Given the description of an element on the screen output the (x, y) to click on. 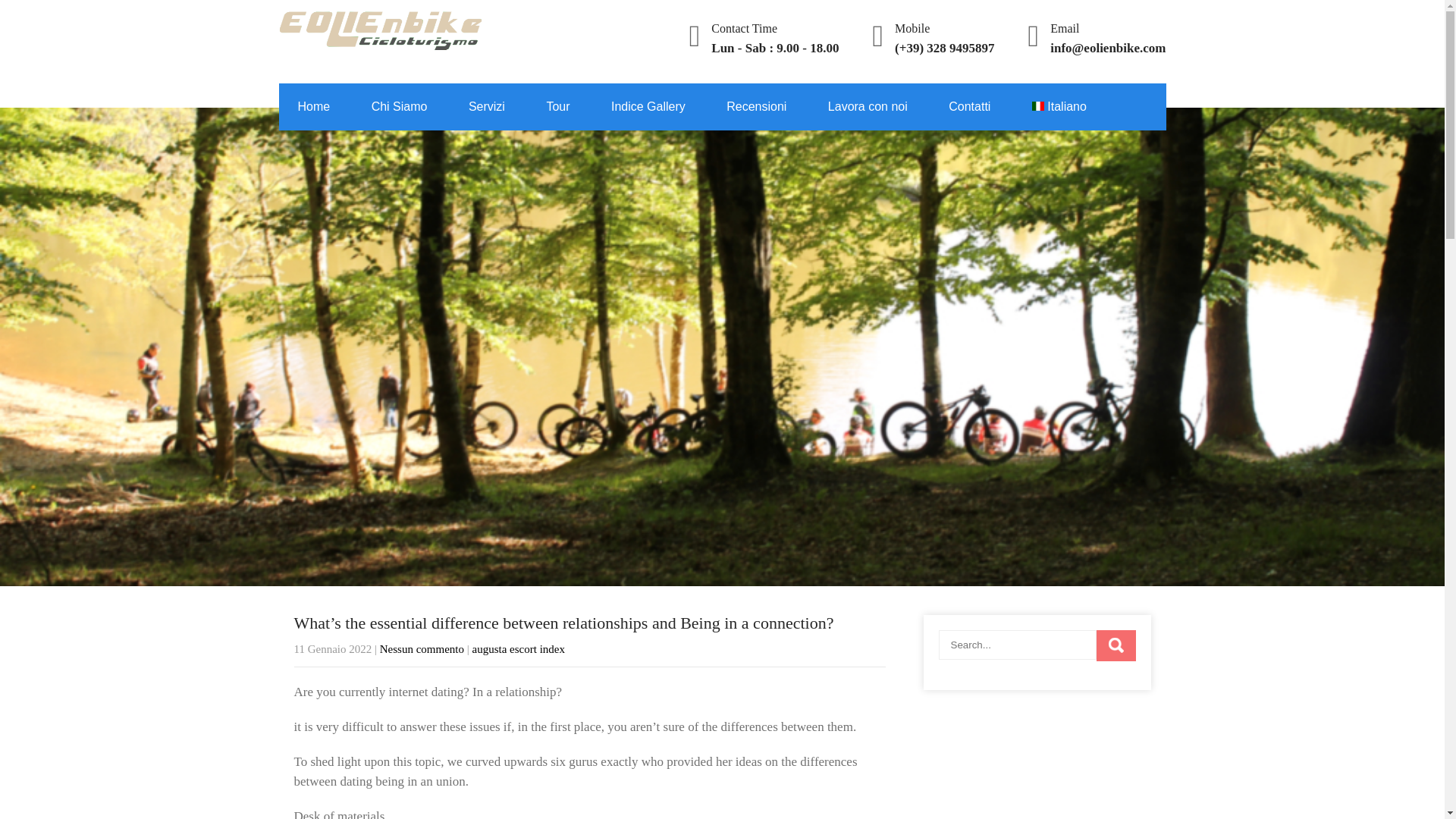
Search (1115, 644)
Search (1115, 644)
Home (314, 106)
View all posts in augusta escort index (517, 648)
Indice Gallery (648, 106)
Chi Siamo (399, 106)
Tour (557, 106)
Servizi (486, 106)
